Given the description of an element on the screen output the (x, y) to click on. 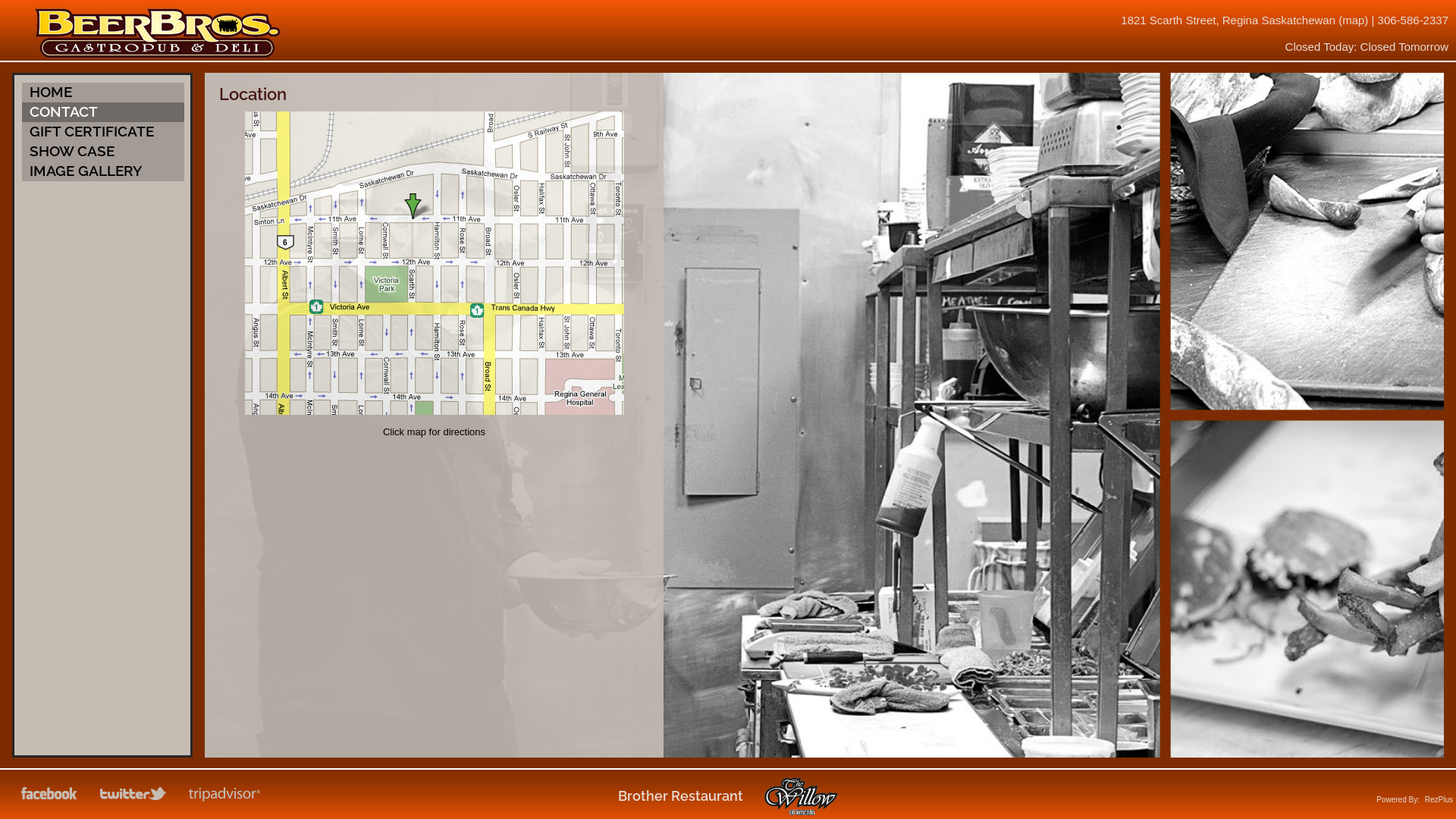
CONTACT Element type: text (102, 112)
Closed Today: Closed Tomorrow Element type: text (1366, 46)
Twitter Element type: text (134, 794)
SHOW CASE Element type: text (102, 151)
Trip Advisor Element type: text (224, 794)
HOME Element type: text (102, 92)
GIFT CERTIFICATE Element type: text (102, 131)
(map) Element type: text (1353, 19)
Powered By: Element type: text (1398, 799)
RezPlus Element type: text (1438, 799)
Beer Bros. Gastropub Element type: hover (157, 54)
IMAGE GALLERY Element type: text (102, 171)
Facebook Element type: text (50, 794)
